Given the description of an element on the screen output the (x, y) to click on. 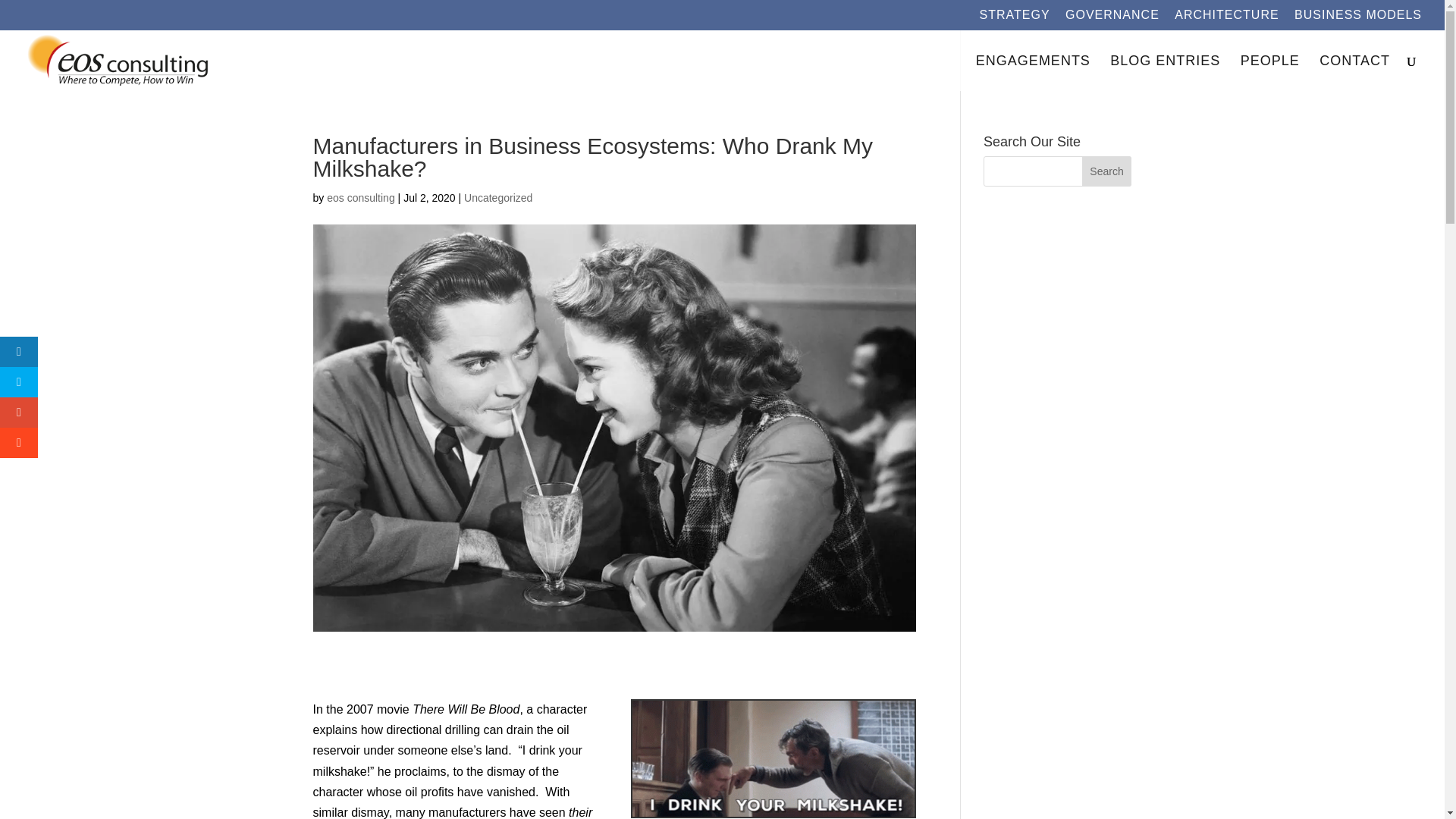
Uncategorized (498, 197)
BLOG ENTRIES (1164, 72)
BUSINESS MODELS (1358, 19)
STRATEGY (1014, 19)
PEOPLE (1270, 72)
Search (1106, 171)
ENGAGEMENTS (1032, 72)
Drink Your Milkshake (772, 758)
Search (1106, 171)
Posts by eos consulting (360, 197)
eos consulting (360, 197)
CONTACT (1354, 72)
ARCHITECTURE (1226, 19)
GOVERNANCE (1111, 19)
